Given the description of an element on the screen output the (x, y) to click on. 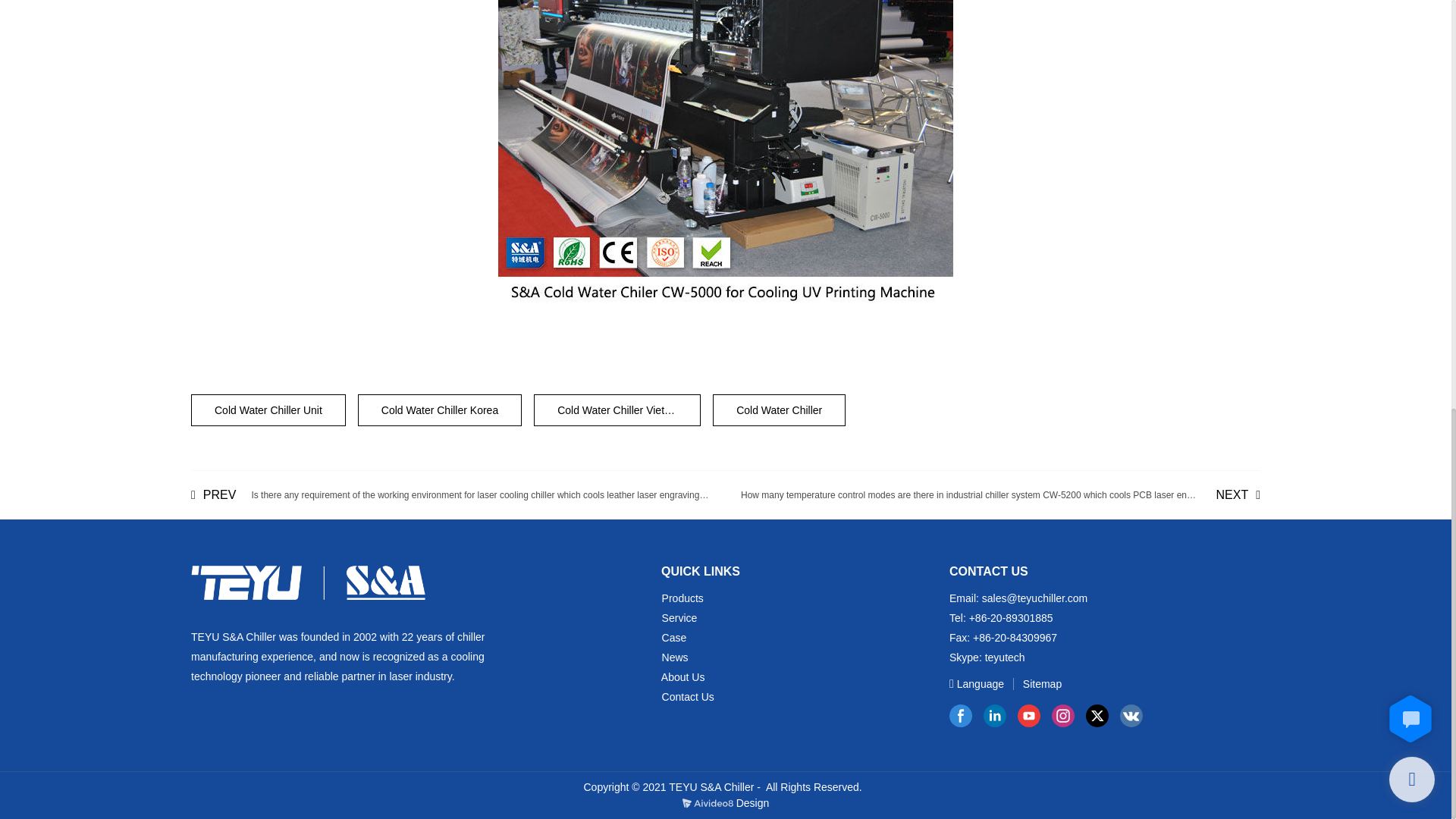
Cold Water Chiller Unit (268, 409)
Cold Water Chiller Korea (439, 409)
Cold Water Chiller (779, 409)
Cold Water Chiller Vietnam (617, 409)
